Given the description of an element on the screen output the (x, y) to click on. 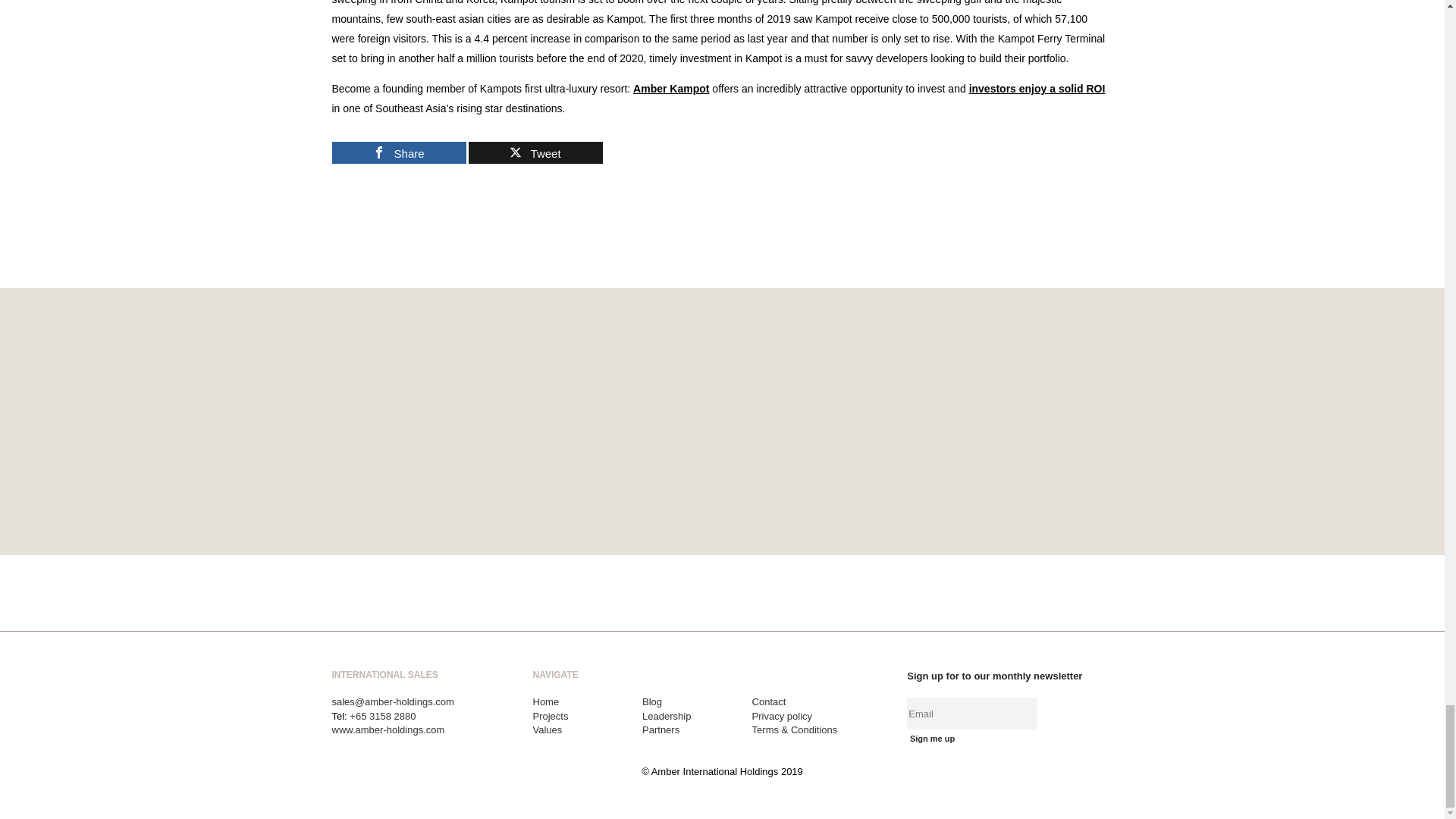
Tweet (535, 152)
Leadership (666, 715)
Home (545, 701)
Contact (769, 701)
Privacy policy (782, 715)
Amber Kampot (671, 88)
Partners (660, 729)
investors enjoy a solid ROI (1037, 88)
www.amber-holdings.com (388, 729)
Blog (652, 701)
